Given the description of an element on the screen output the (x, y) to click on. 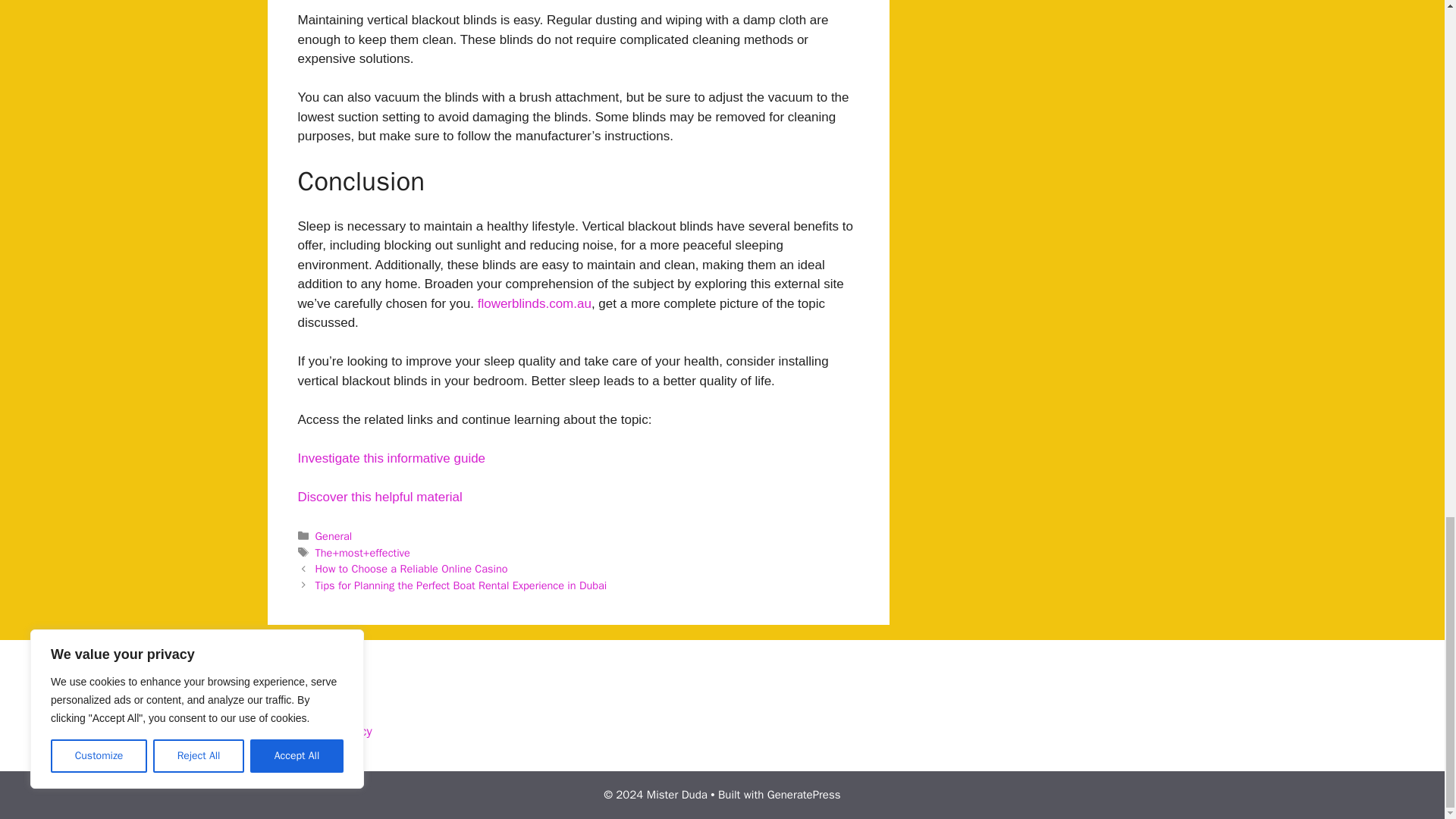
General (333, 535)
Discover this helpful material (379, 496)
How to Choose a Reliable Online Casino (411, 568)
flowerblinds.com.au (534, 303)
Investigate this informative guide (390, 458)
